Given the description of an element on the screen output the (x, y) to click on. 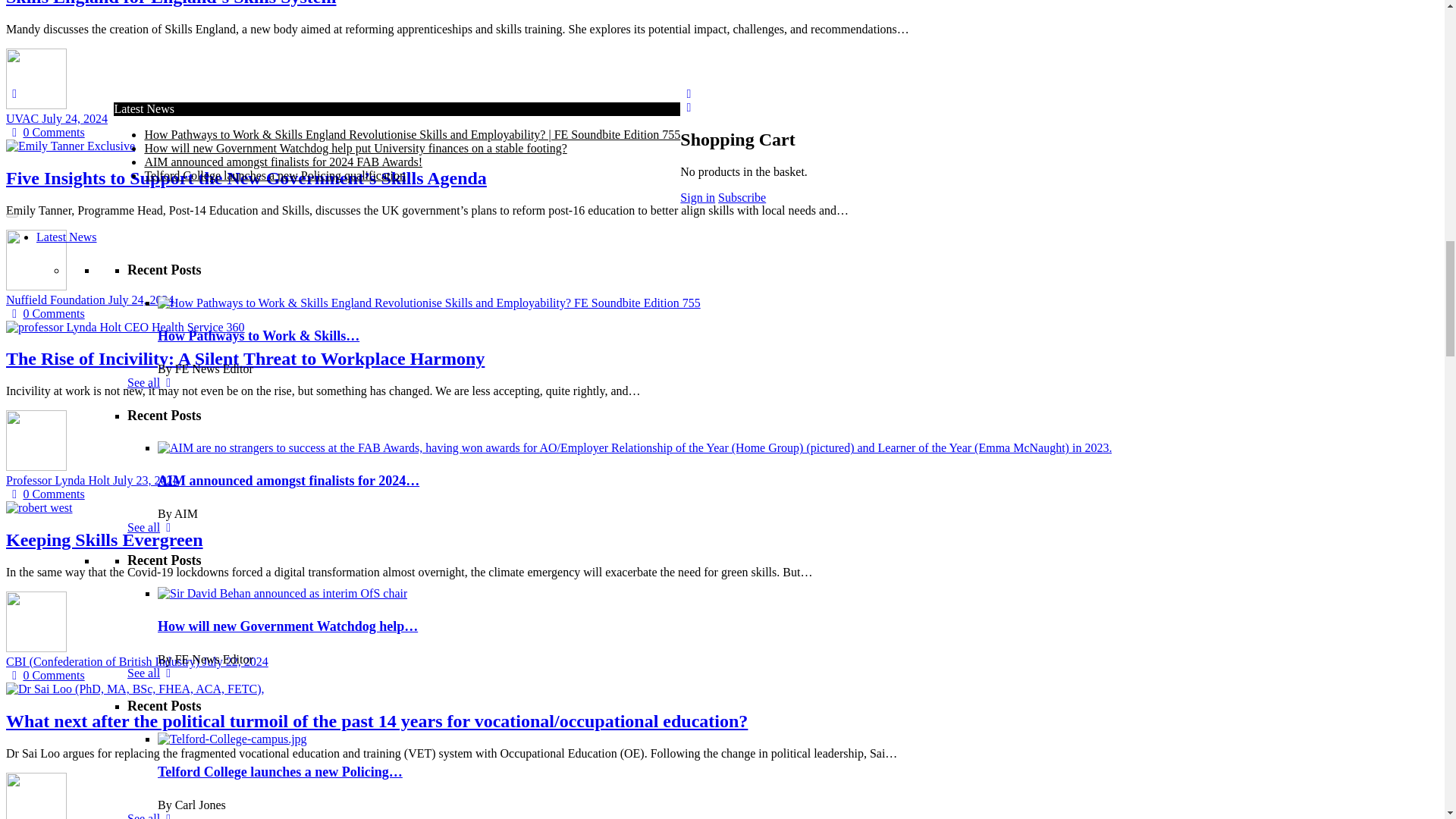
Publishing on FE News (424, 375)
